Given the description of an element on the screen output the (x, y) to click on. 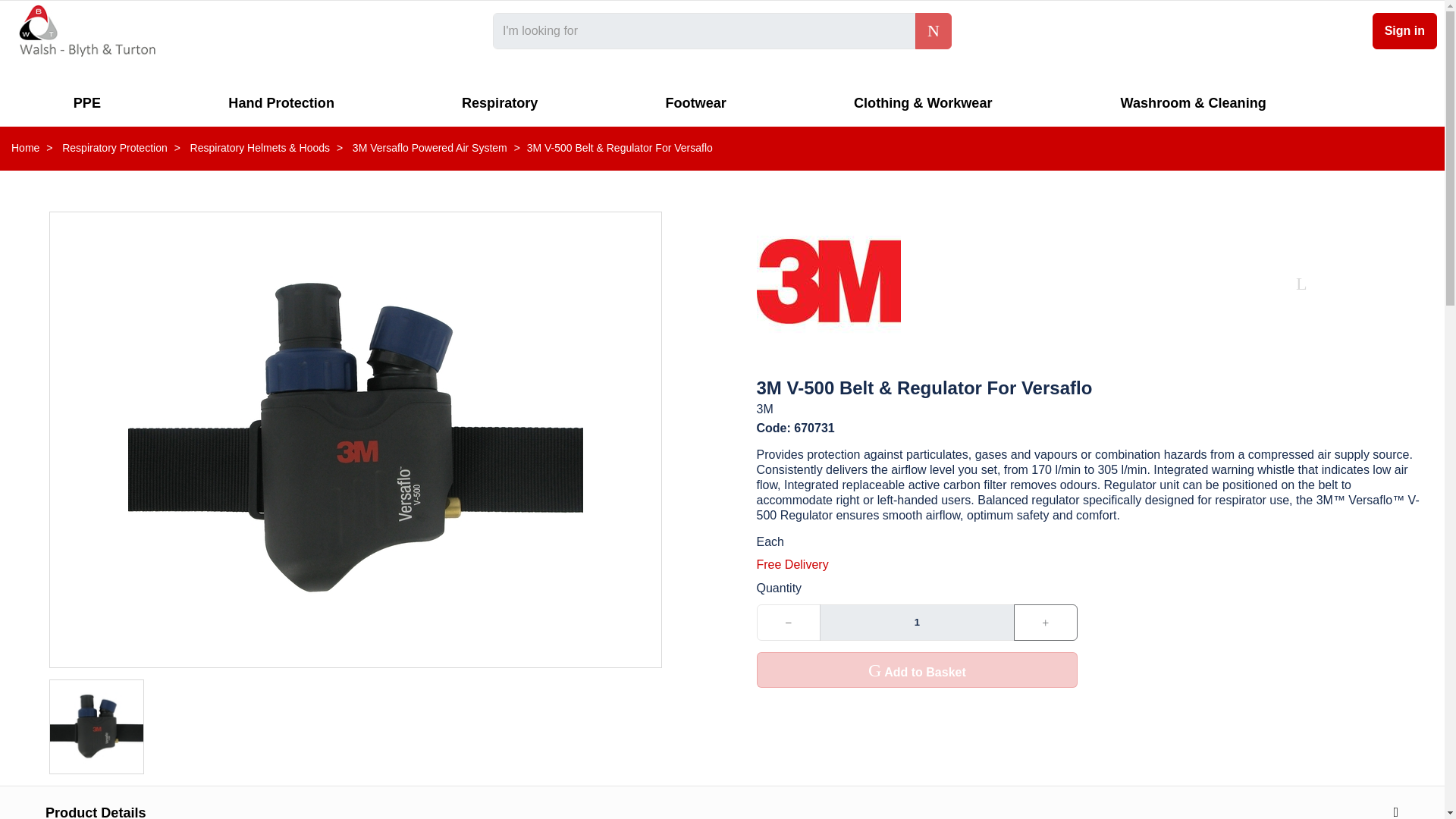
1 (916, 622)
WBT Wholesale logo (86, 30)
Sign in (1405, 31)
PPE (89, 101)
PPE (89, 101)
Hand Protection (282, 101)
